Given the description of an element on the screen output the (x, y) to click on. 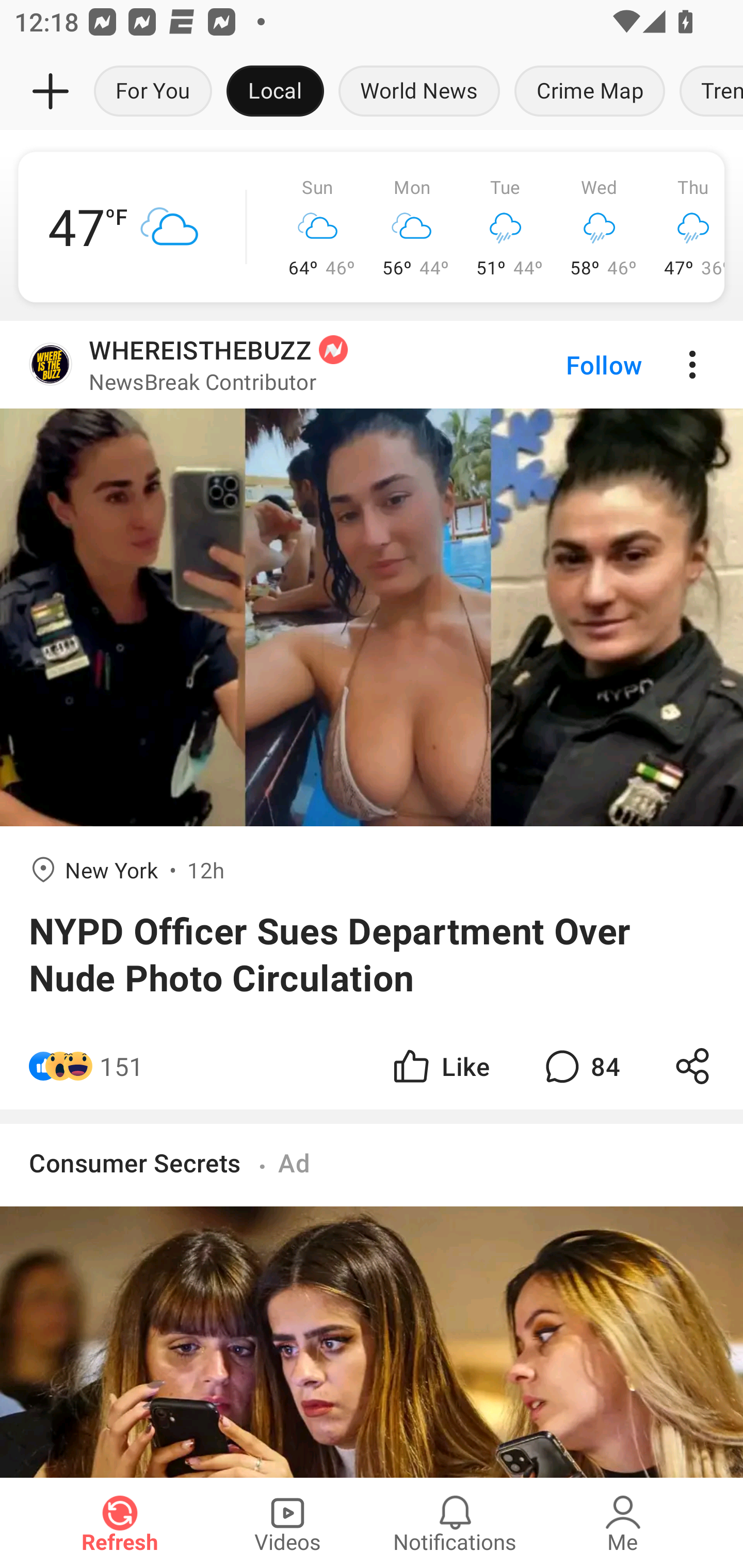
For You (152, 91)
Local (275, 91)
World News (419, 91)
Crime Map (589, 91)
Sun 64º 46º (317, 227)
Mon 56º 44º (411, 227)
Tue 51º 44º (505, 227)
Wed 58º 46º (599, 227)
Thu 47º 36º (685, 227)
WHEREISTHEBUZZ NewsBreak Contributor Follow (371, 365)
Follow (569, 365)
151 (121, 1066)
Like (439, 1066)
84 (579, 1066)
Consumer Secrets  (137, 1162)
Videos (287, 1522)
Notifications (455, 1522)
Me (622, 1522)
